Given the description of an element on the screen output the (x, y) to click on. 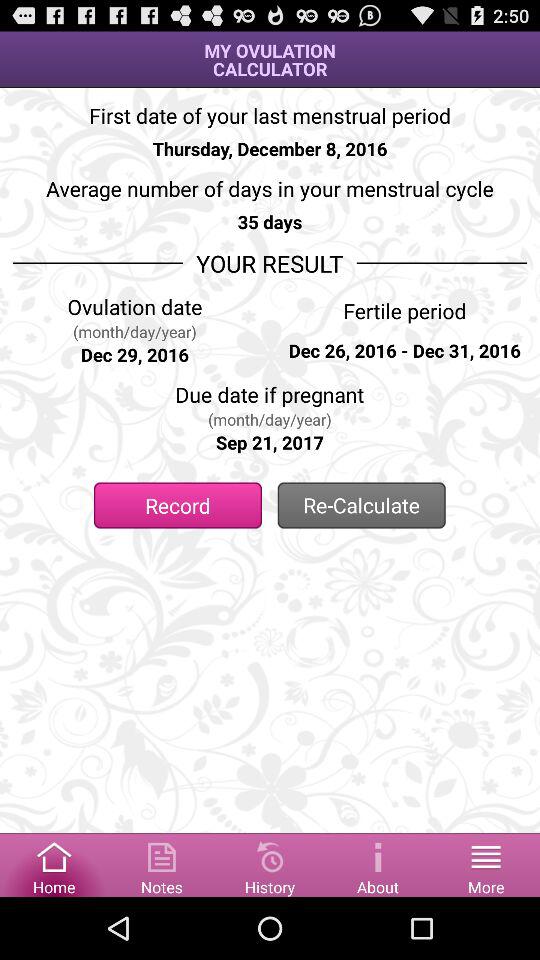
home box (54, 864)
